Given the description of an element on the screen output the (x, y) to click on. 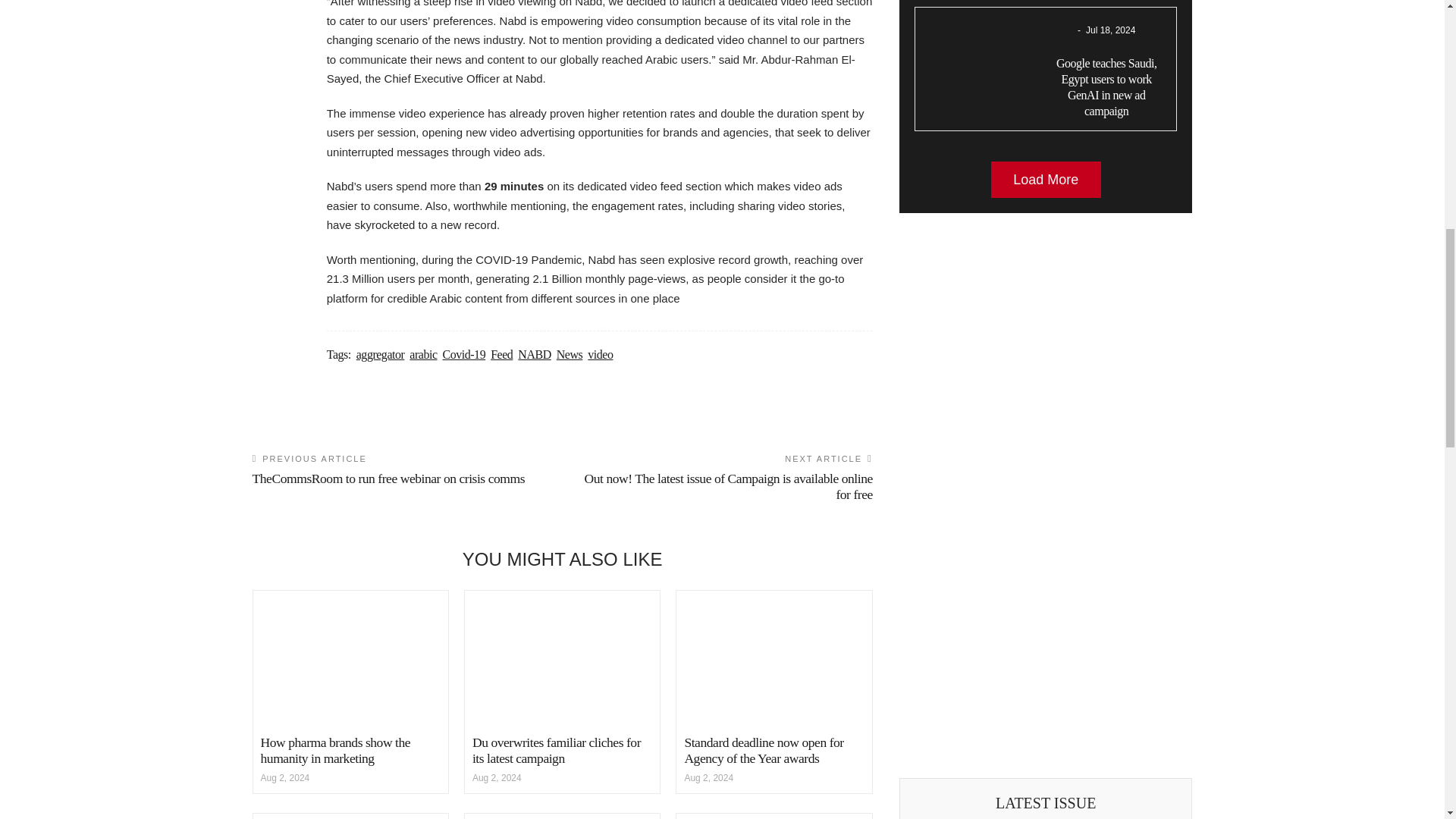
video (600, 354)
News (569, 354)
NABD (534, 354)
aggregator (380, 354)
TheCommsRoom to run free webinar on crisis comms (387, 478)
arabic (422, 354)
Feed (501, 354)
Covid-19 (464, 354)
